Given the description of an element on the screen output the (x, y) to click on. 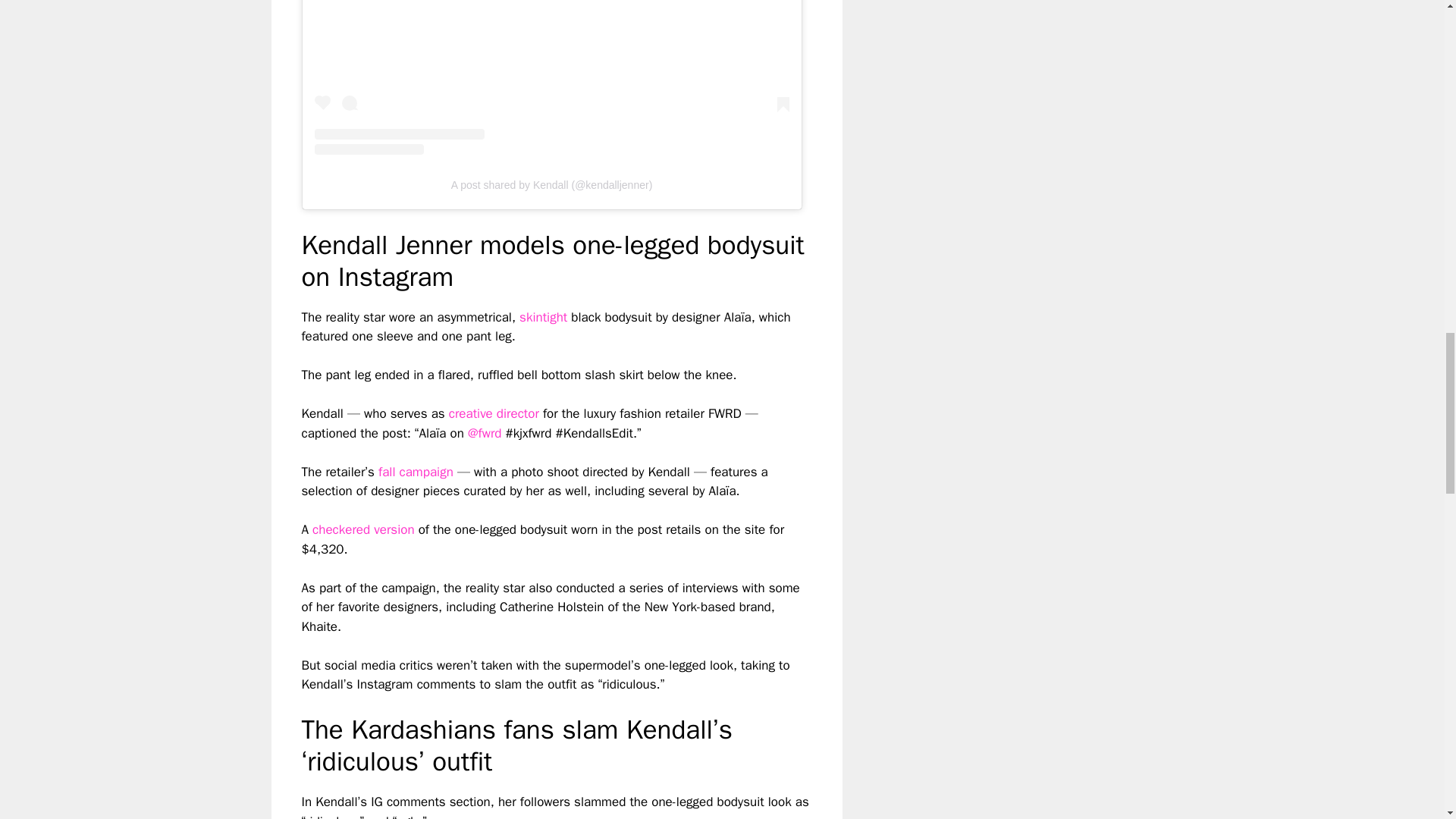
skintight (543, 317)
creative director (493, 413)
checkered version (363, 529)
fall campaign (415, 471)
View this post on Instagram (551, 77)
